Given the description of an element on the screen output the (x, y) to click on. 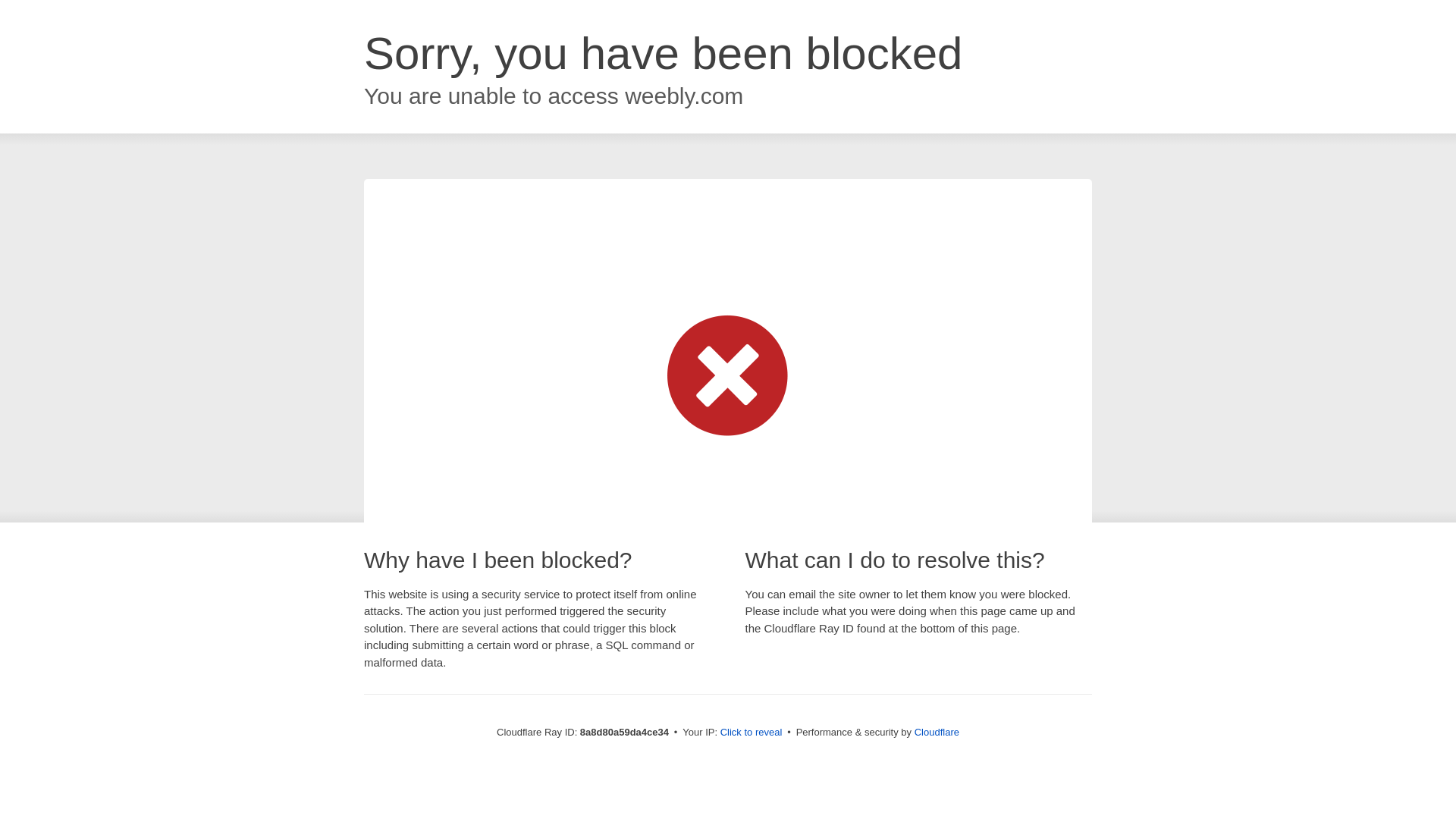
Click to reveal (751, 732)
Cloudflare (936, 731)
